Given the description of an element on the screen output the (x, y) to click on. 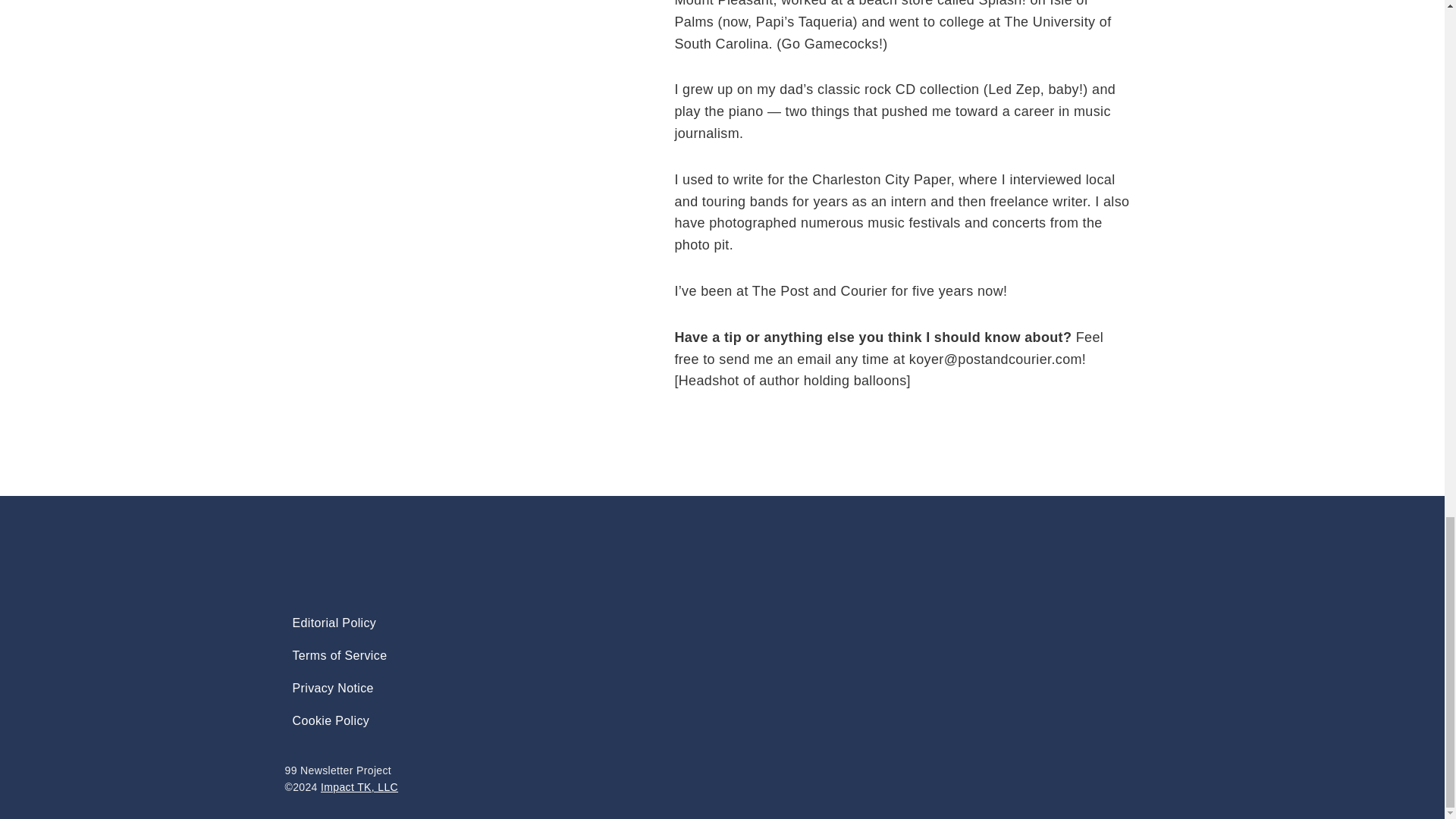
Terms of Service (339, 655)
Impact TK, LLC (358, 787)
Cookie Policy (330, 720)
Editorial Policy (334, 622)
Privacy Notice (333, 687)
